Given the description of an element on the screen output the (x, y) to click on. 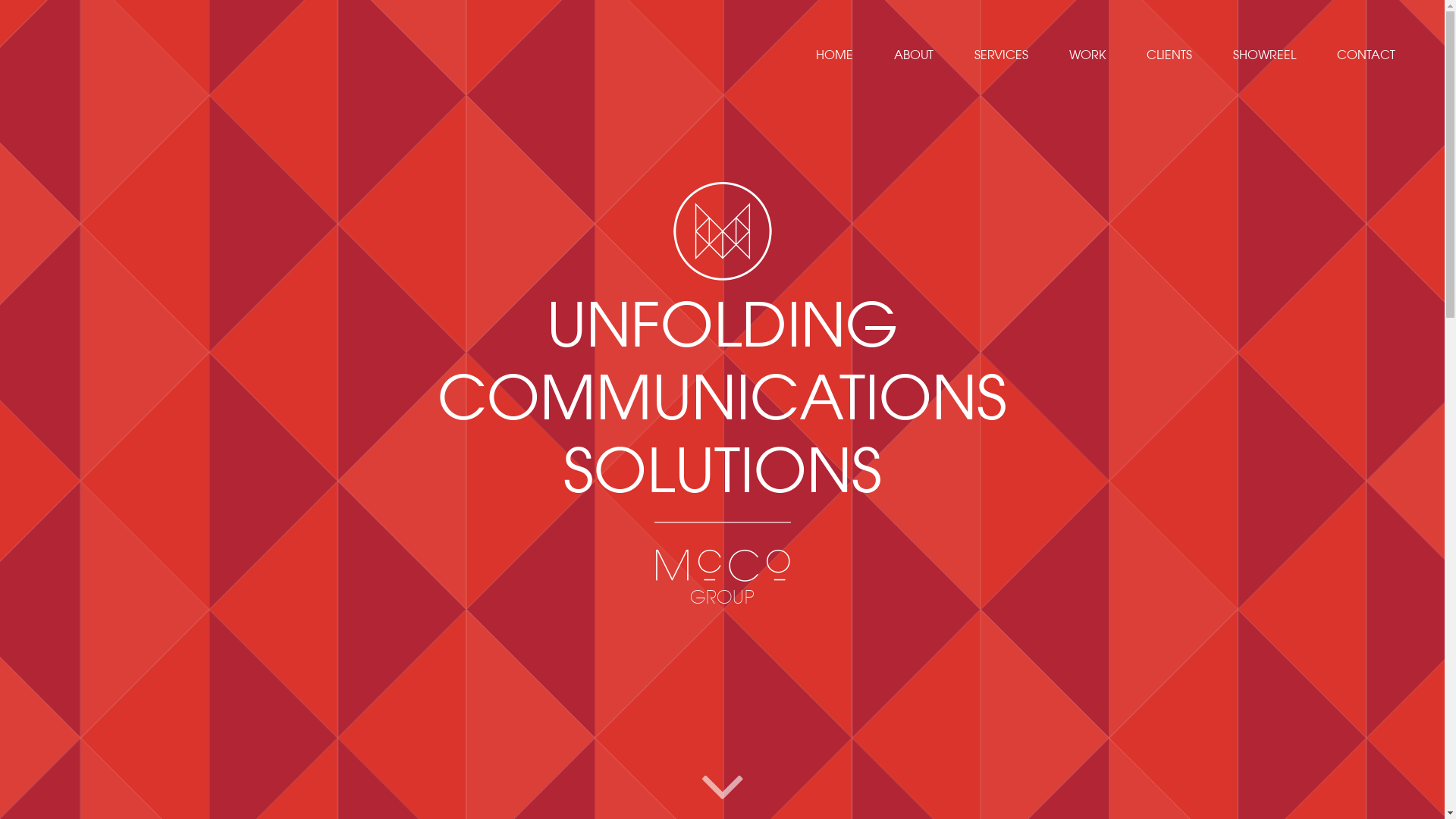
HOME Element type: text (834, 54)
CLIENTS Element type: text (1169, 54)
SHOWREEL Element type: text (1264, 54)
SERVICES Element type: text (1001, 54)
WORK Element type: text (1087, 54)
CONTACT Element type: text (1365, 54)
ABOUT Element type: text (913, 54)
